Given the description of an element on the screen output the (x, y) to click on. 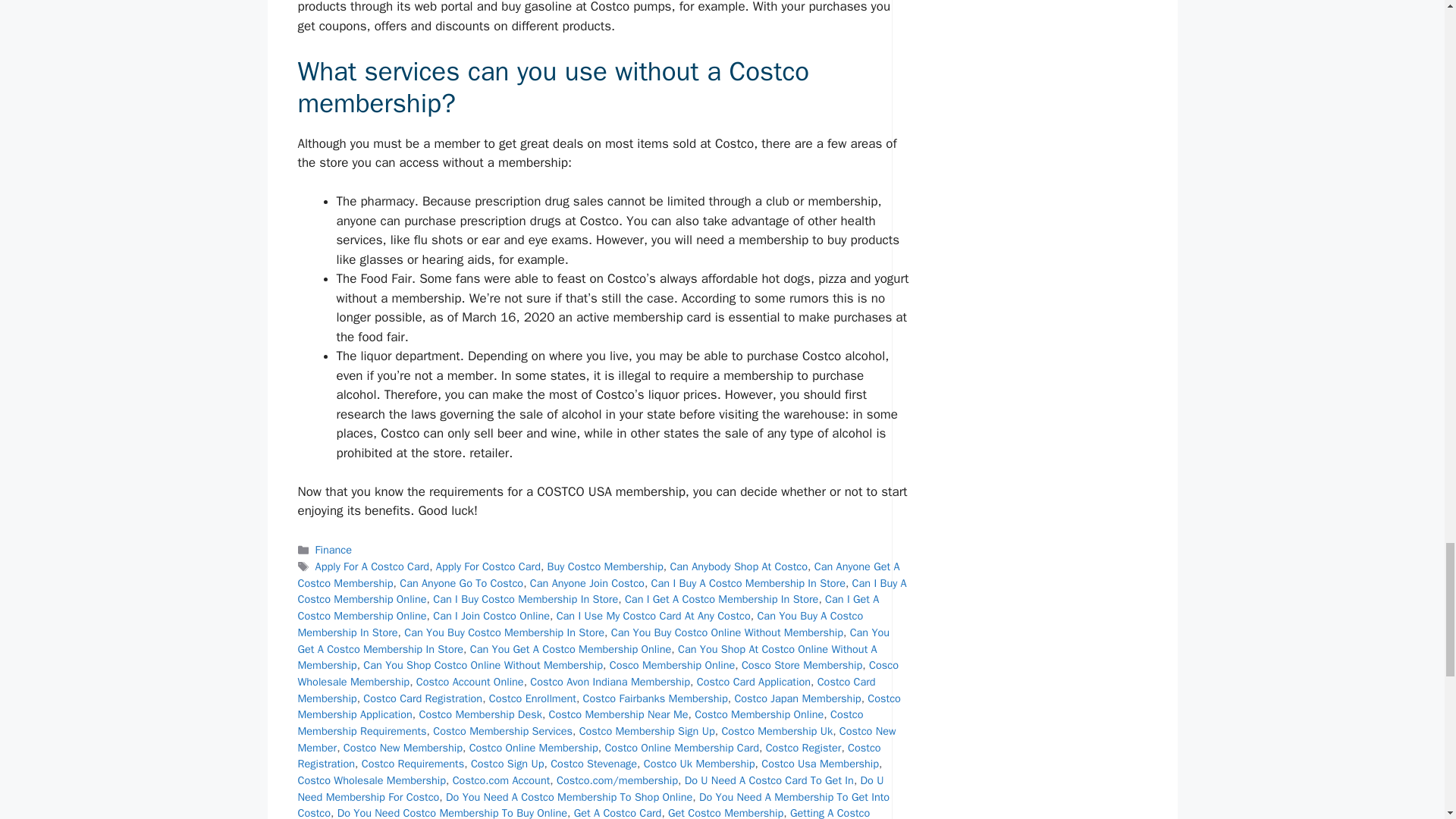
Finance (333, 549)
Apply For A Costco Card (372, 566)
Can Anyone Get A Costco Membership (598, 574)
Can Anybody Shop At Costco (738, 566)
Buy Costco Membership (605, 566)
Apply For Costco Card (487, 566)
